Given the description of an element on the screen output the (x, y) to click on. 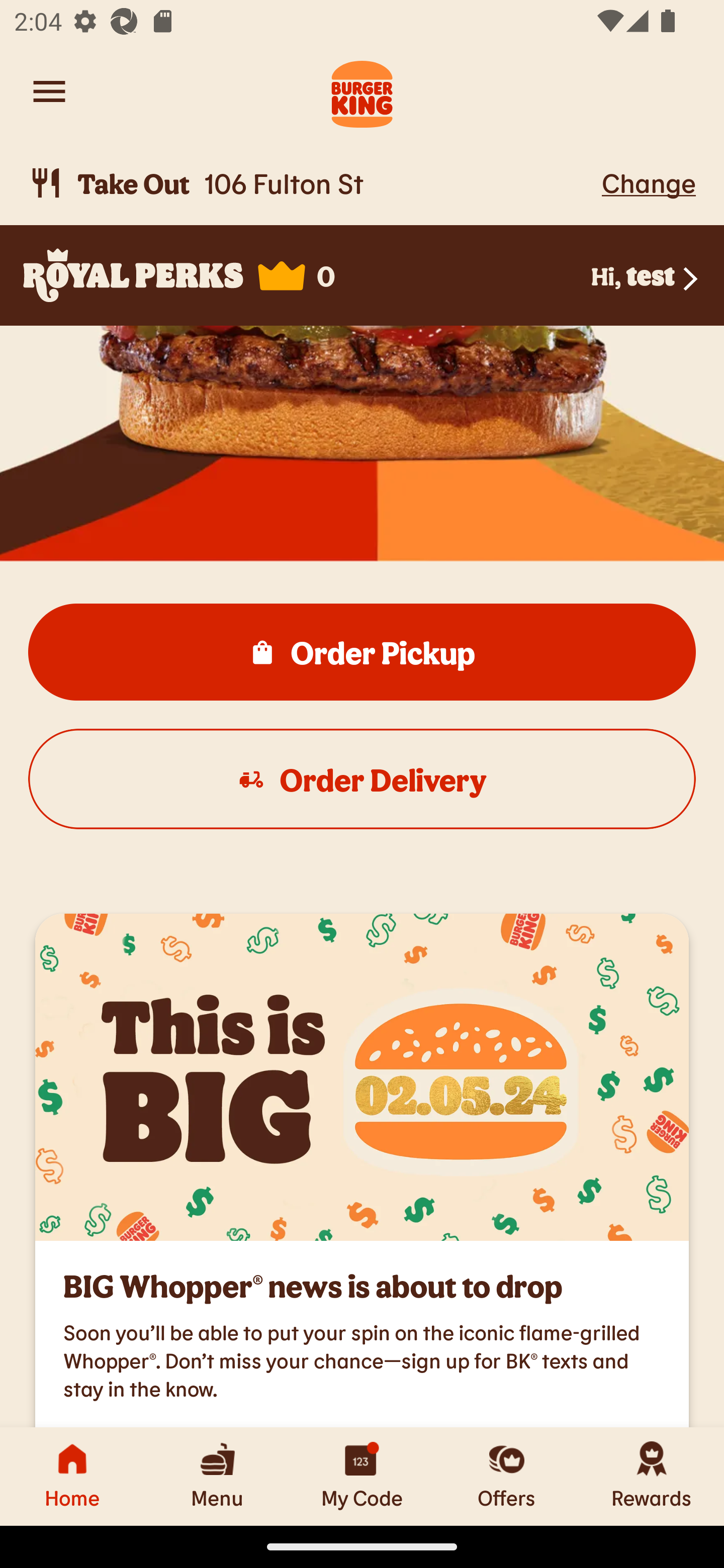
Burger King Logo. Navigate to Home (362, 91)
Navigate to account menu  (49, 91)
Take Out, 106 Fulton St  Take Out 106 Fulton St (311, 183)
Change (648, 182)
, Order Pickup  Order Pickup (361, 651)
, Order Delivery  Order Delivery (361, 779)
MDW Teaser Auth App (361, 1077)
Home (72, 1475)
Menu (216, 1475)
My Code (361, 1475)
Offers (506, 1475)
Rewards (651, 1475)
